Given the description of an element on the screen output the (x, y) to click on. 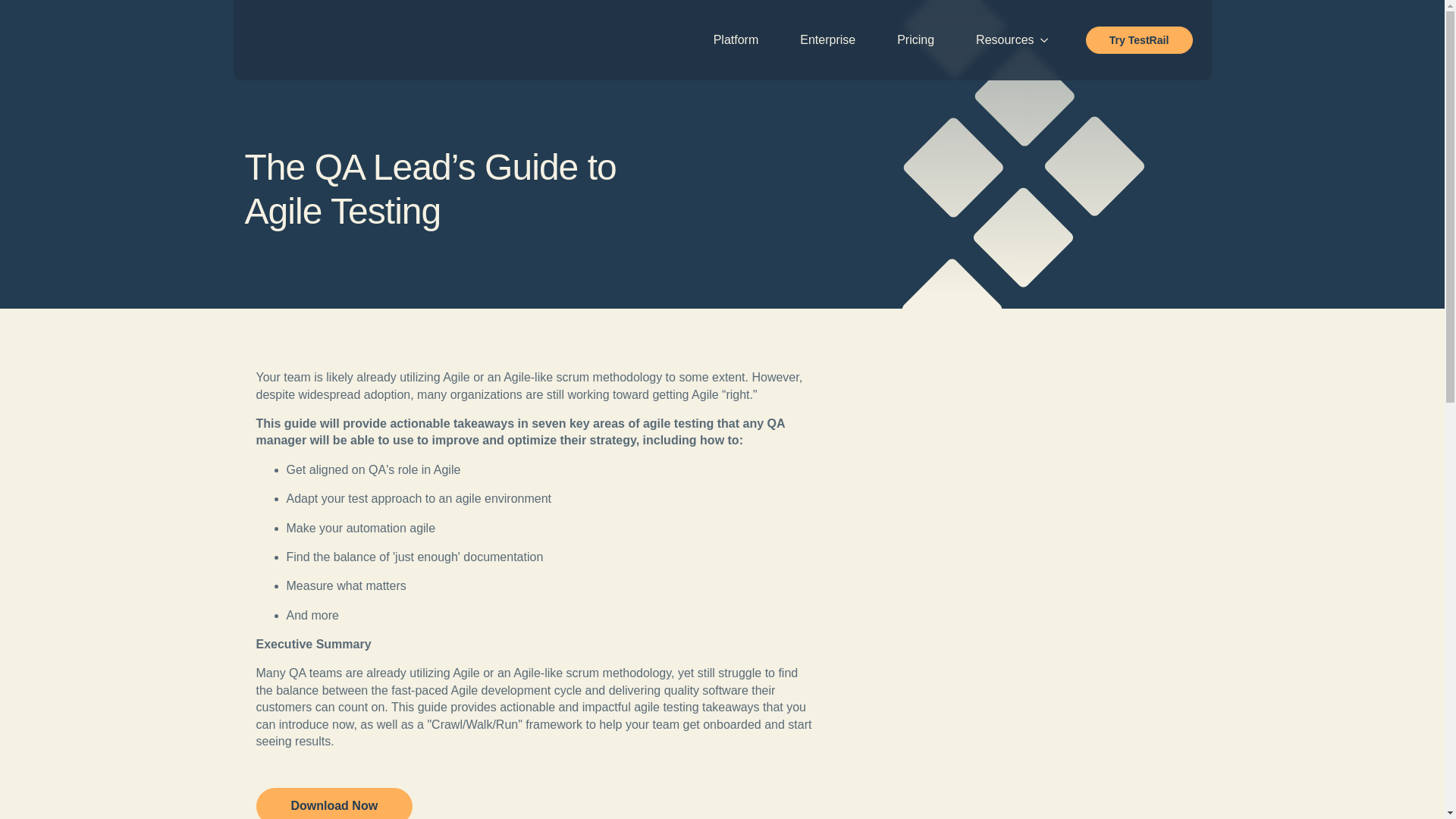
Download Now (334, 803)
Platform (736, 39)
Try TestRail (1139, 40)
Resources (996, 39)
Enterprise (827, 39)
Pricing (915, 39)
